Given the description of an element on the screen output the (x, y) to click on. 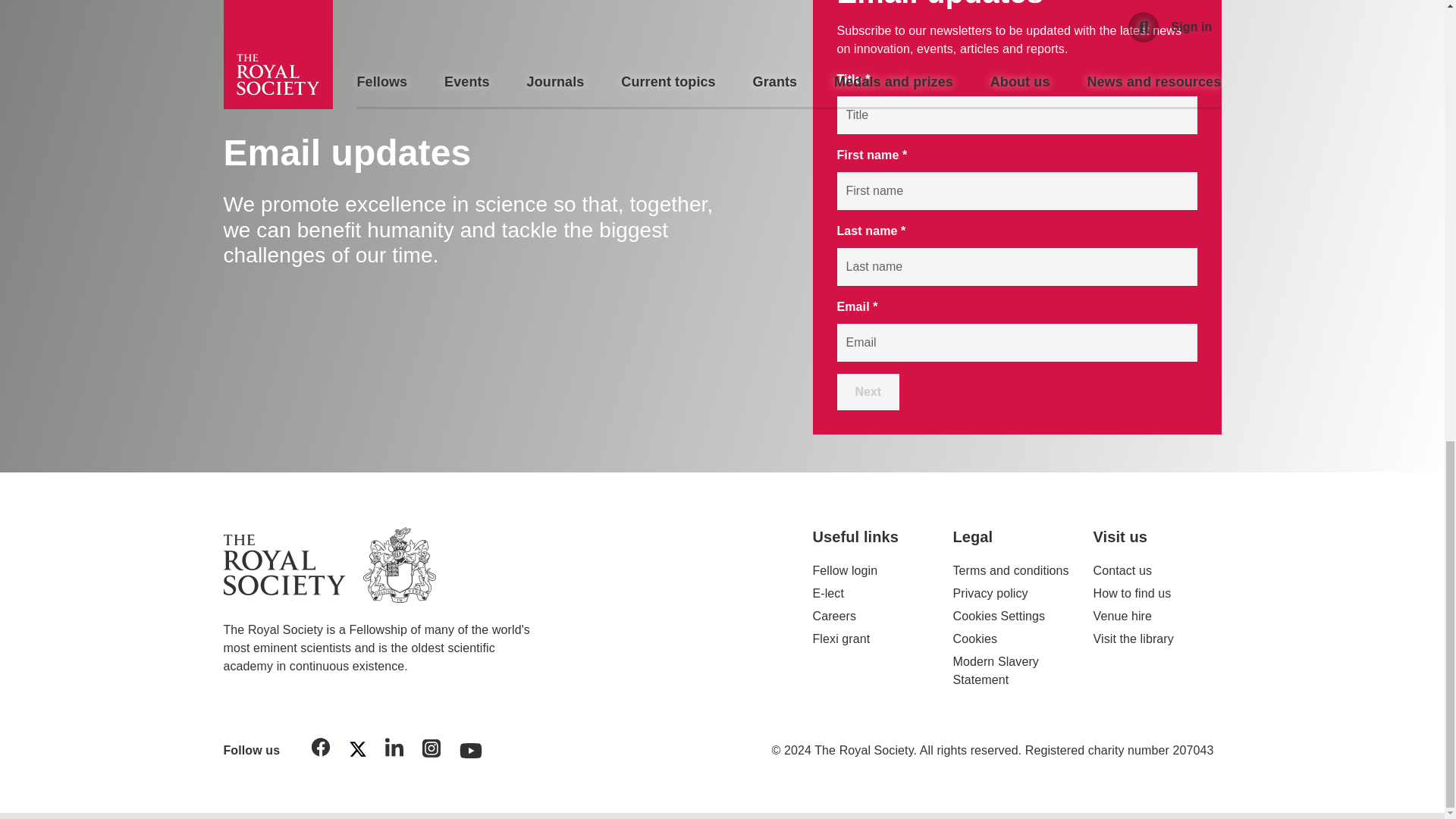
LinkedIn (393, 750)
Facebook (320, 750)
YouTube (470, 746)
Twitter (357, 752)
Instagram (431, 751)
